Given the description of an element on the screen output the (x, y) to click on. 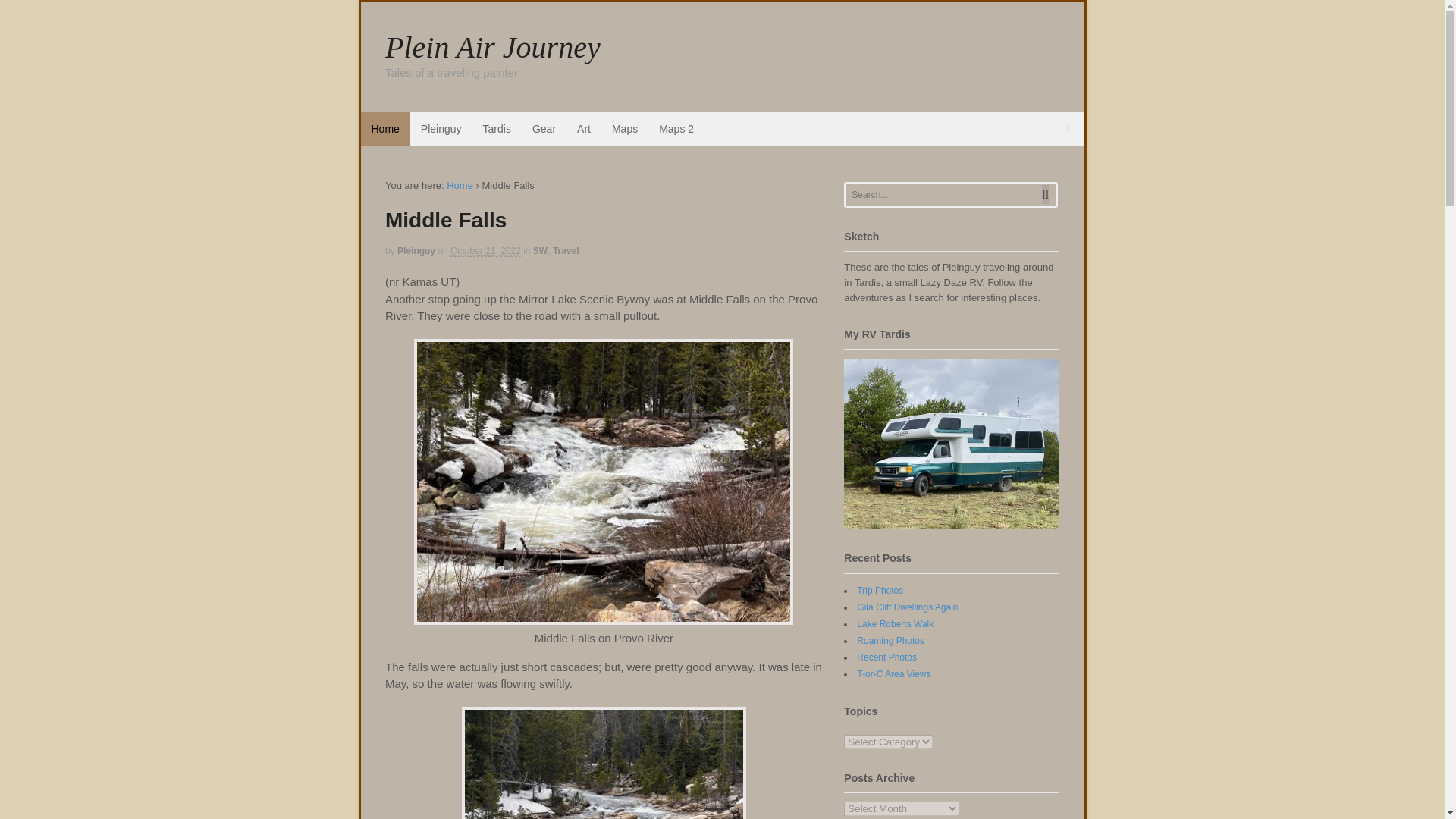
Tardis (496, 129)
2022-10-21T11:00:00-0600 (485, 251)
Pleinguy (440, 129)
Art (583, 129)
Maps 2 (675, 129)
View all items in SW (539, 250)
Posts by Pleinguy (416, 250)
View all items in Travel (566, 250)
Home (385, 129)
Maps (624, 129)
